Given the description of an element on the screen output the (x, y) to click on. 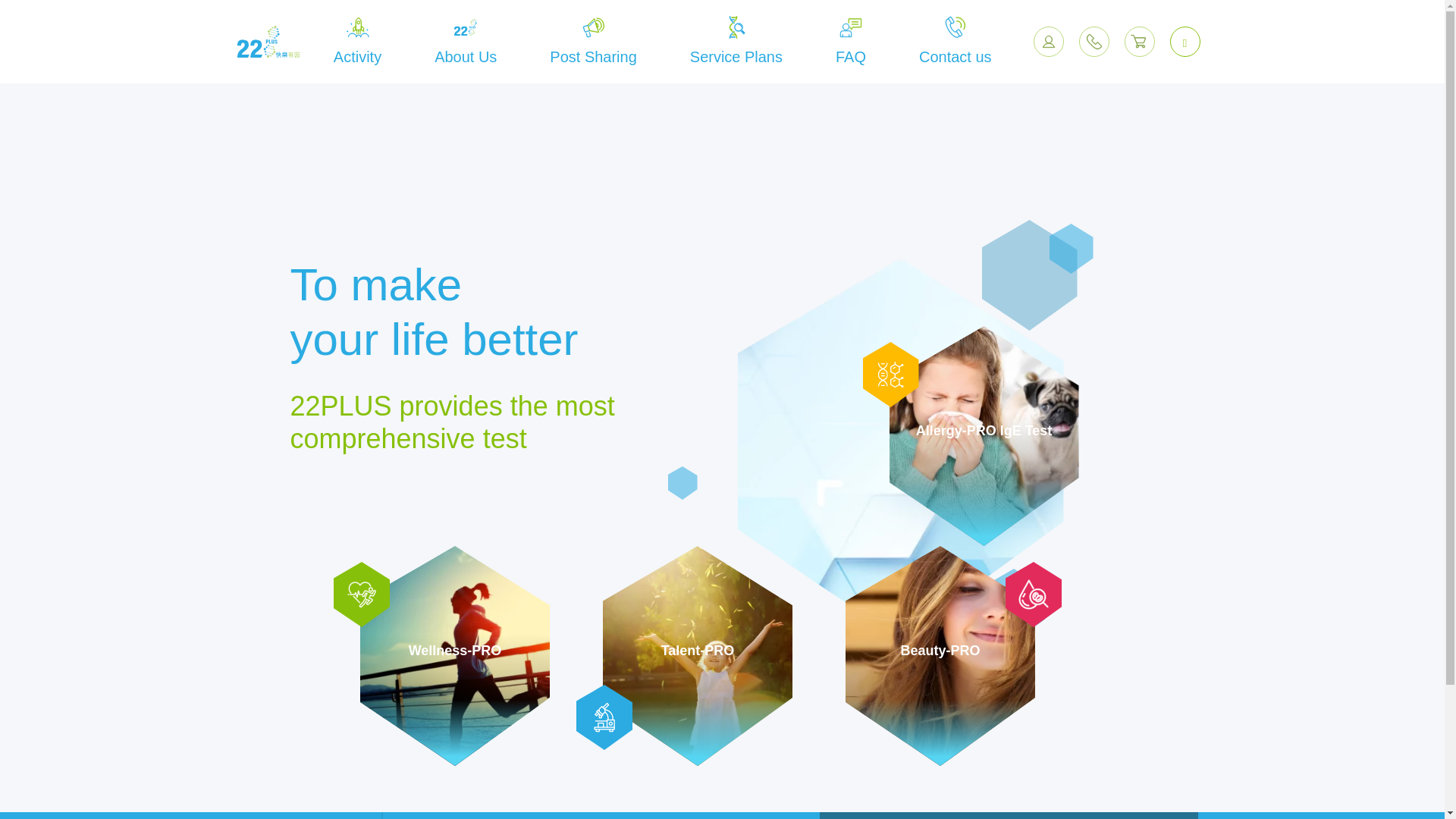
Talent-PRO Element type: text (697, 655)
Post Sharing Element type: text (592, 41)
Service Plans Element type: text (736, 41)
Contact us Element type: text (955, 41)
Activity Element type: text (357, 41)
FAQ Element type: text (850, 41)
Allergy-PRO IgE Test Element type: text (983, 436)
Beauty-PRO Element type: text (940, 655)
Wellness-PRO Element type: text (454, 655)
About Us Element type: text (465, 41)
